Given the description of an element on the screen output the (x, y) to click on. 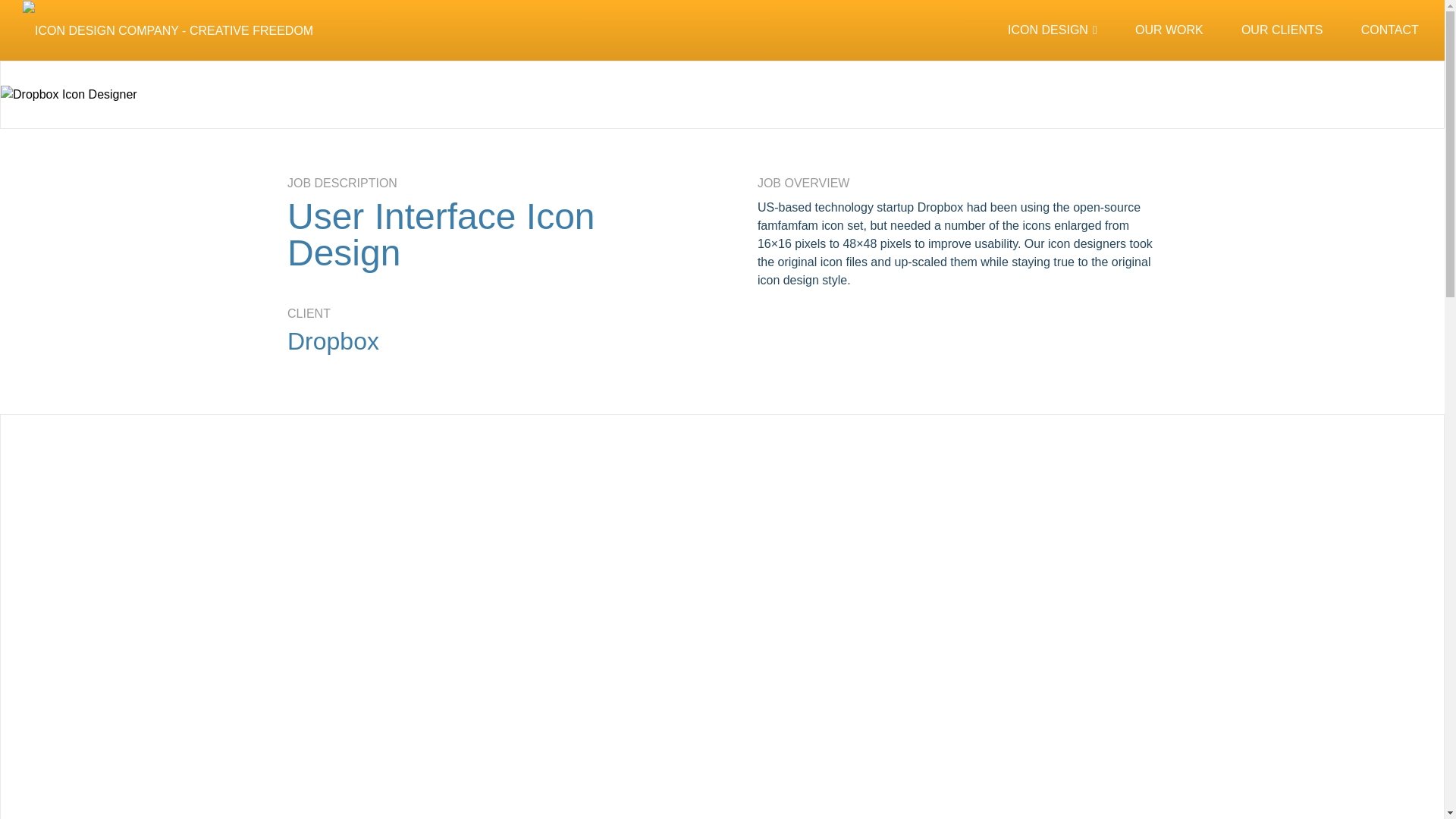
CONTACT (1390, 30)
Tell us all about it (1390, 30)
Custom Icon design (1052, 30)
OUR WORK (1168, 30)
ICON DESIGN (1052, 30)
Meet our happy clients (1281, 30)
OUR CLIENTS (1281, 30)
